Given the description of an element on the screen output the (x, y) to click on. 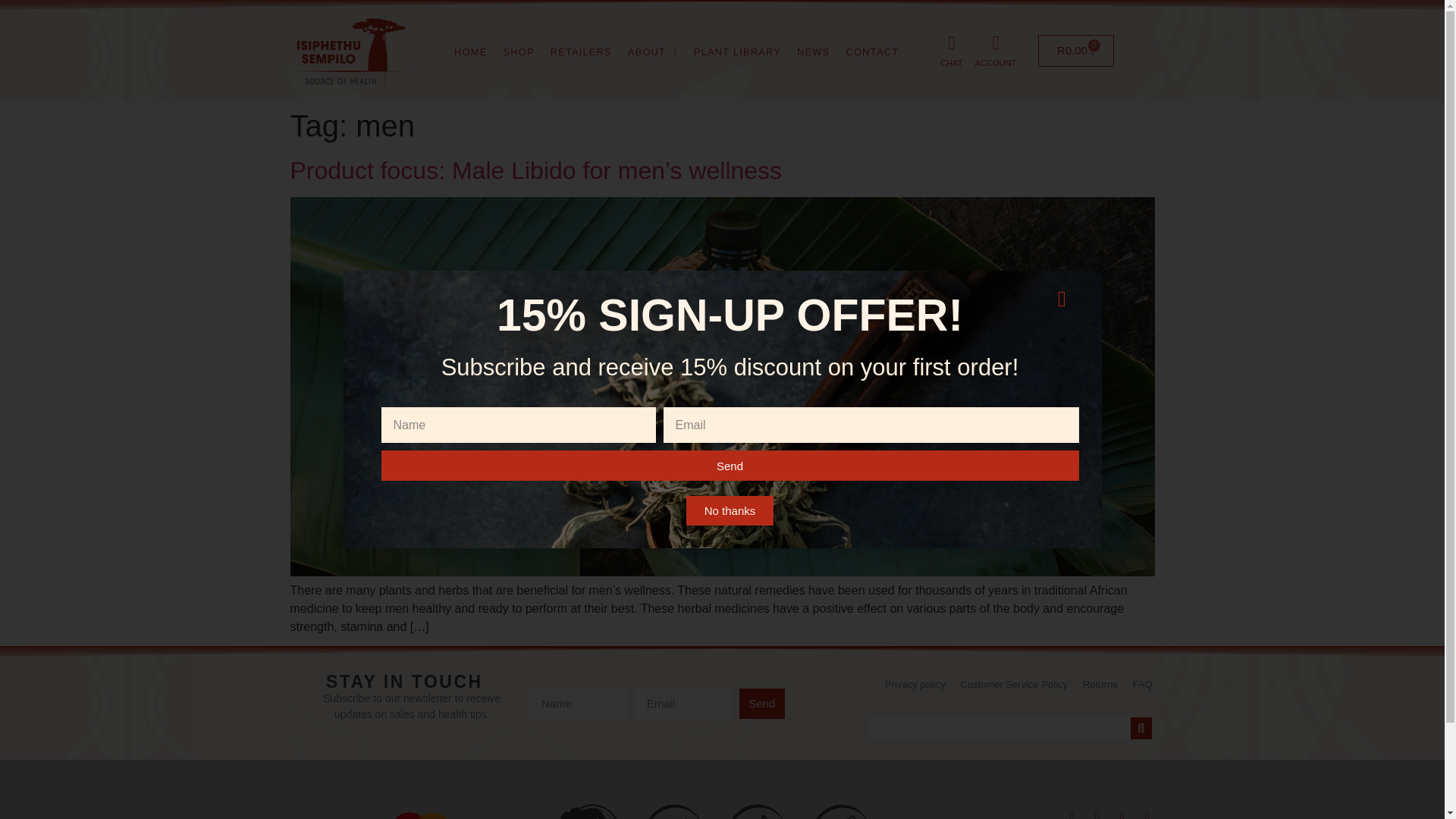
ABOUT (1075, 50)
ACCOUNT (652, 52)
CHAT (995, 62)
NEWS (951, 62)
HOME (813, 52)
SHOP (470, 52)
PLANT LIBRARY (517, 52)
CONTACT (737, 52)
RETAILERS (872, 52)
